Given the description of an element on the screen output the (x, y) to click on. 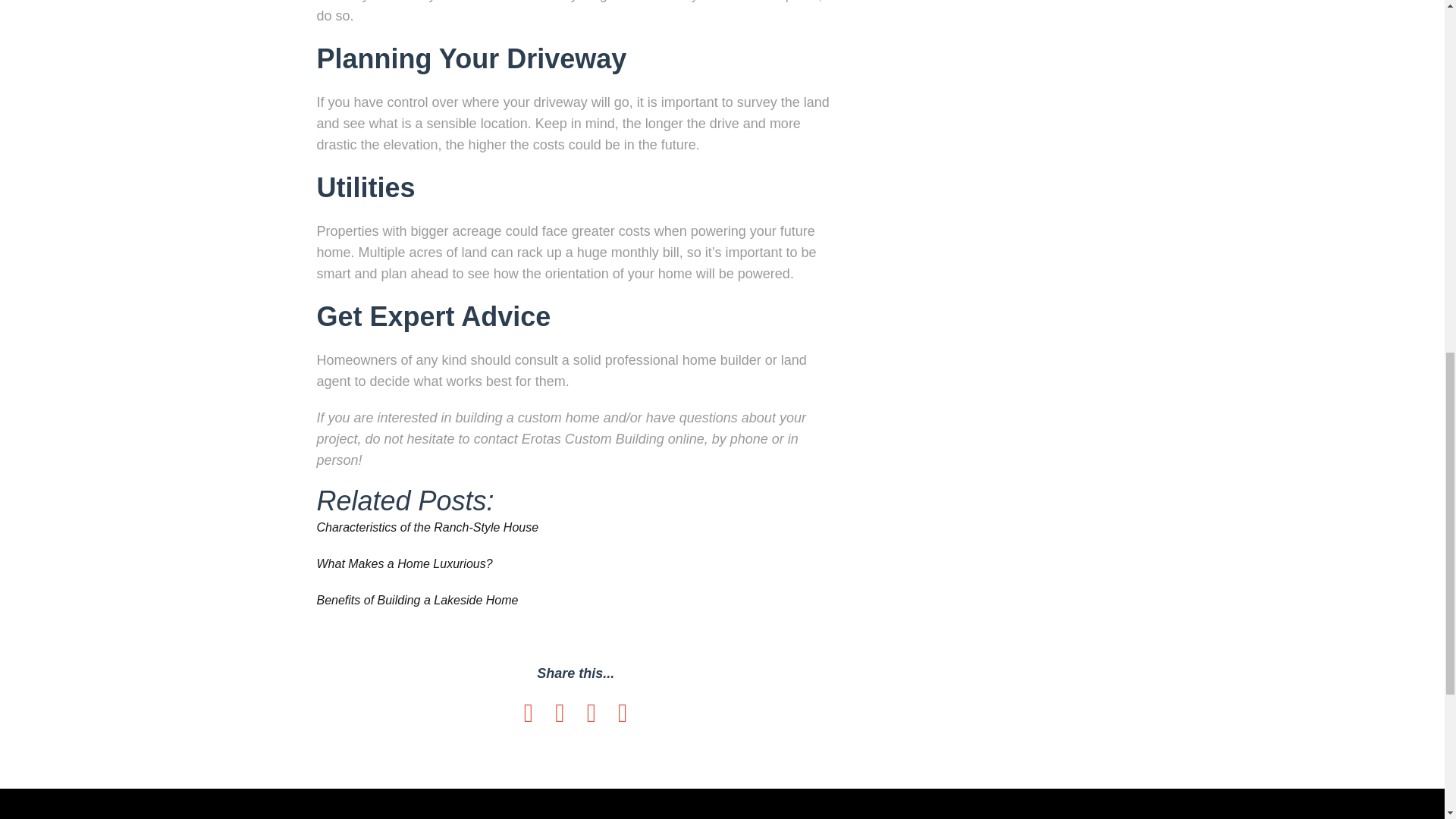
Share on LinkedIn (591, 712)
Share on Facebook. (528, 712)
What Makes a Home Luxurious? (405, 563)
Benefits of Building a Lakeside Home (417, 599)
Characteristics of the Ranch-Style House (427, 526)
